Given the description of an element on the screen output the (x, y) to click on. 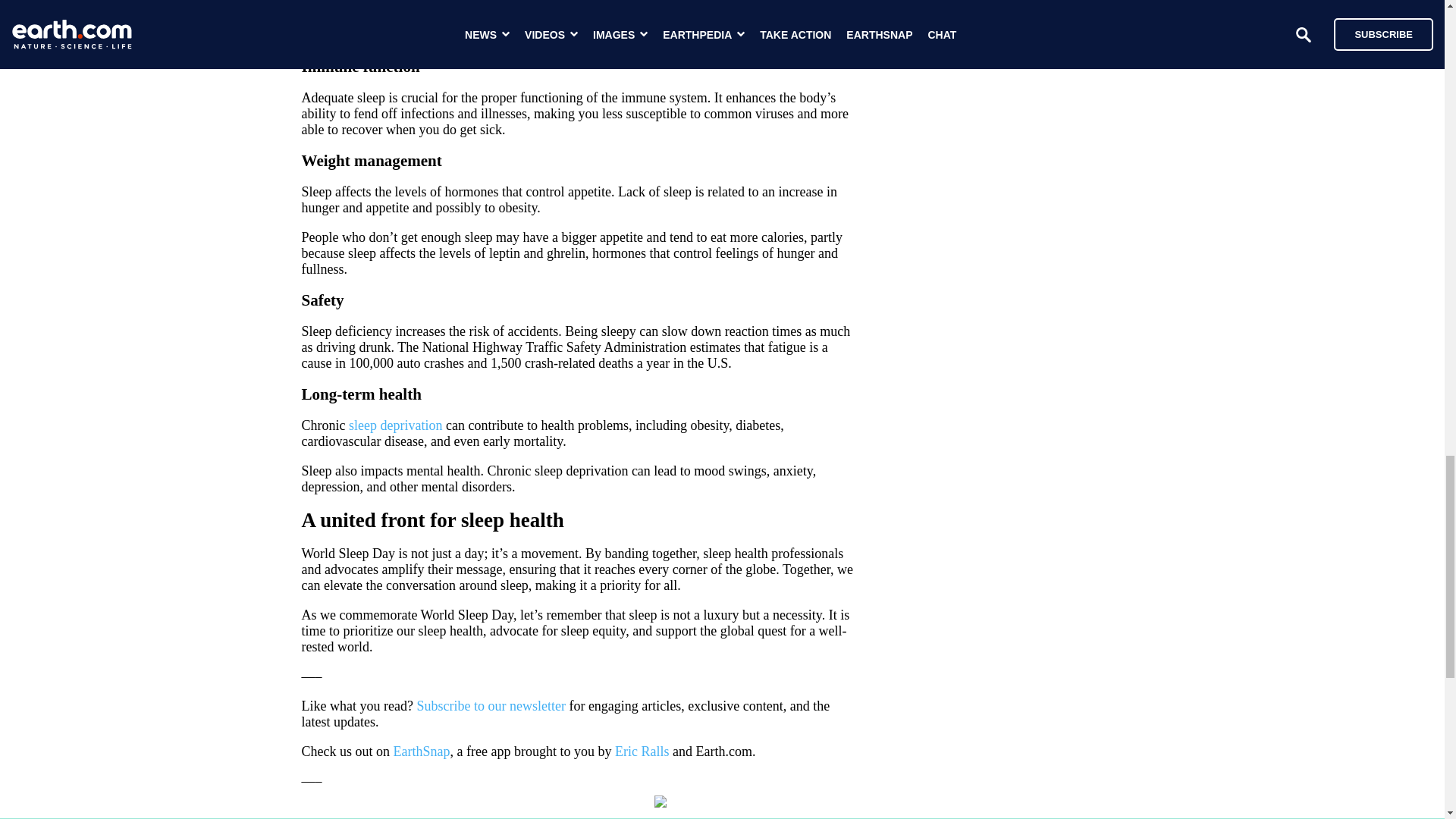
sleep deprivation (395, 425)
EarthSnap (421, 751)
Eric Ralls (641, 751)
Subscribe to our newsletter (490, 705)
